Given the description of an element on the screen output the (x, y) to click on. 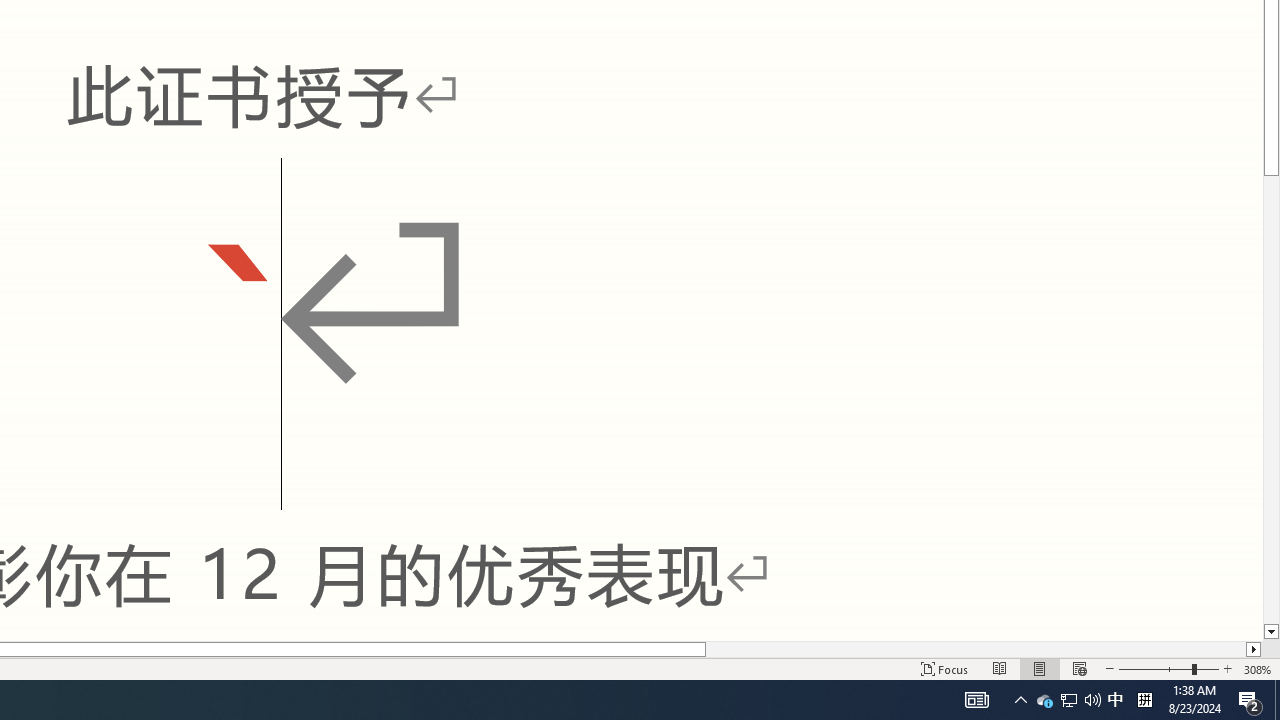
Zoom Out (1154, 668)
Web Layout (1079, 668)
Page down (1271, 399)
Focus  (944, 668)
Read Mode (1000, 668)
Zoom 308% (1258, 668)
Zoom In (1227, 668)
Column right (1254, 649)
Line down (1271, 632)
Print Layout (1039, 668)
Page right (975, 649)
Zoom (1168, 668)
